Given the description of an element on the screen output the (x, y) to click on. 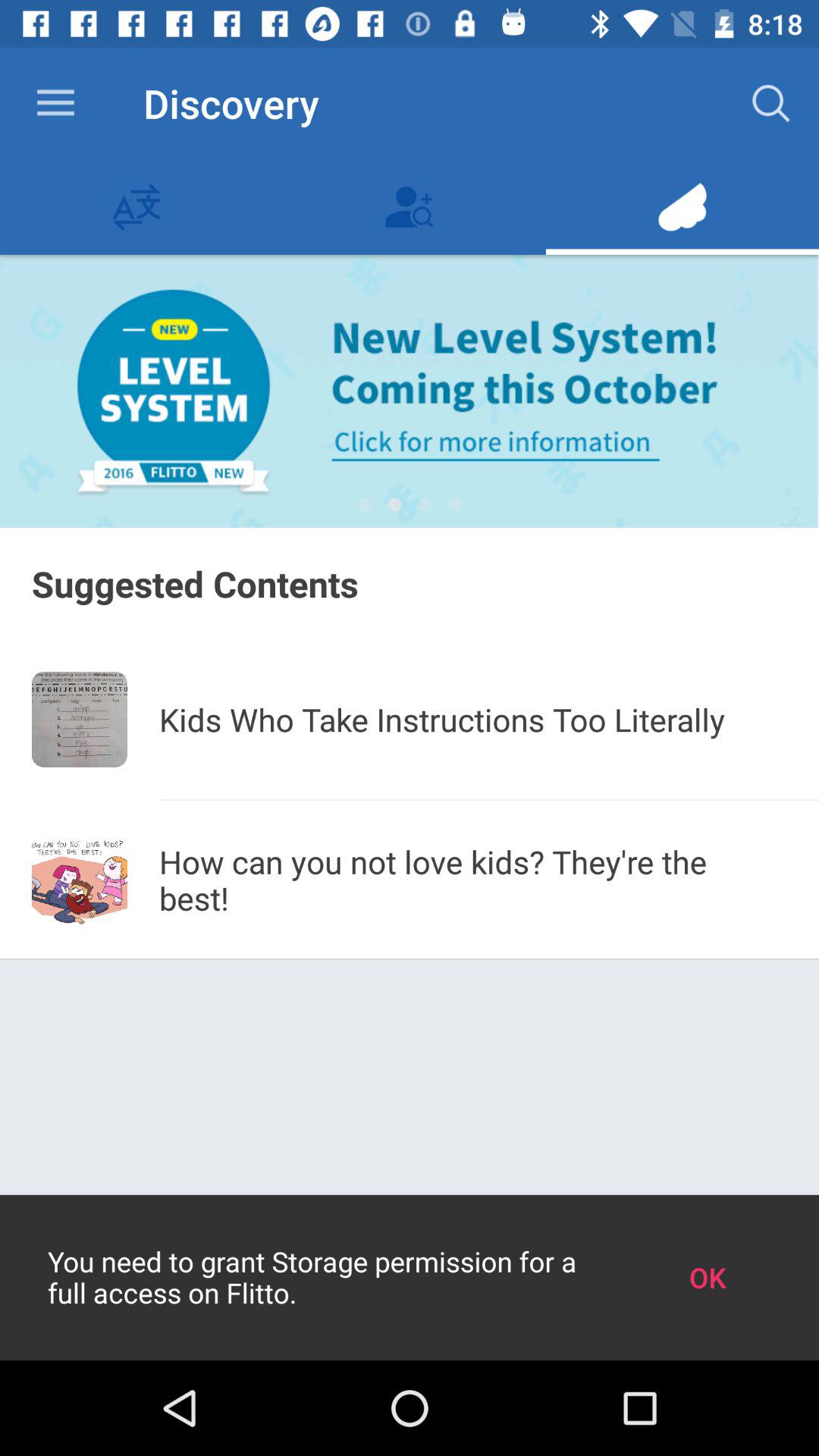
turn on the icon next to how can you app (79, 880)
